Given the description of an element on the screen output the (x, y) to click on. 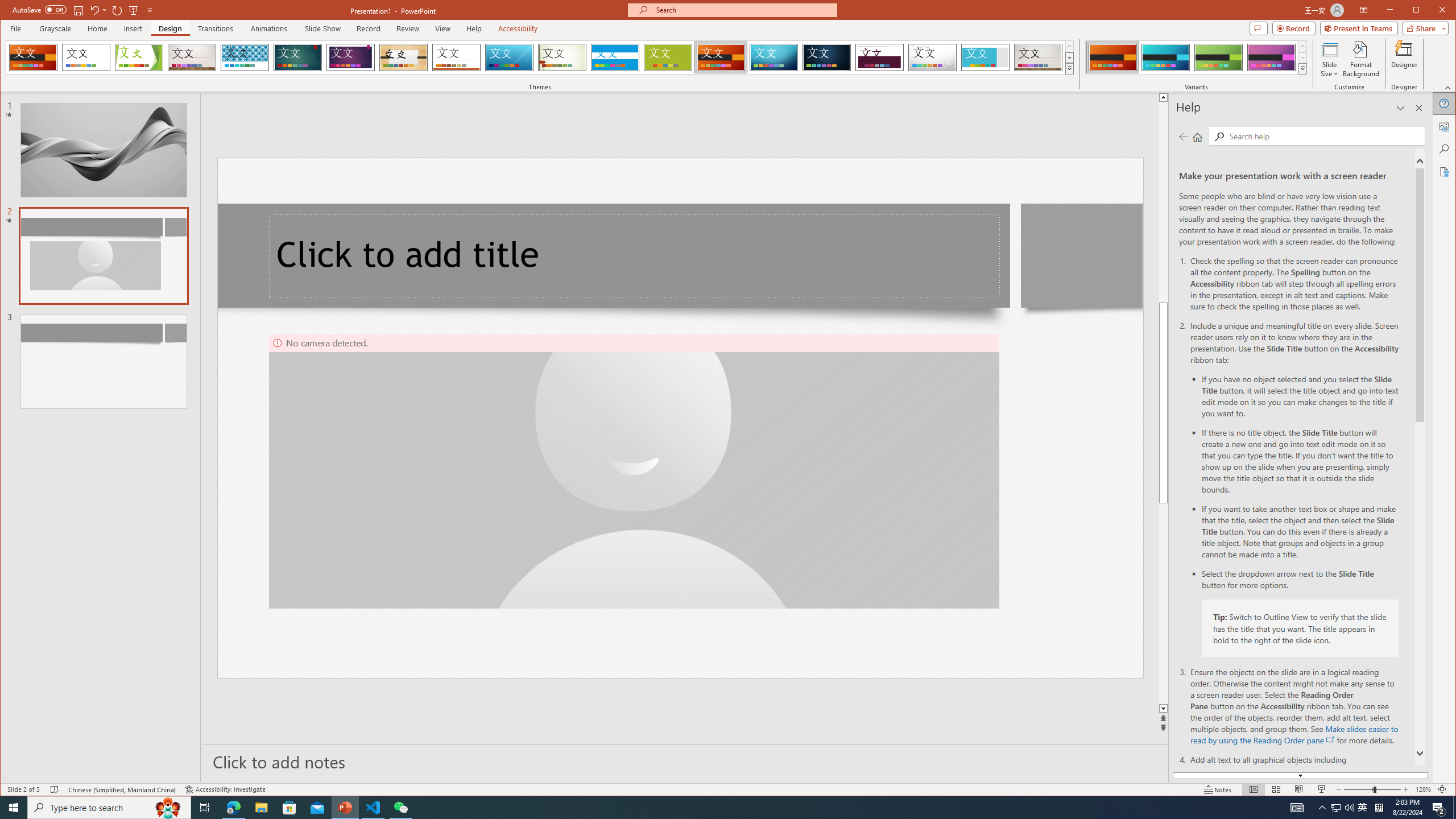
Organic (403, 57)
Integral (244, 57)
